Given the description of an element on the screen output the (x, y) to click on. 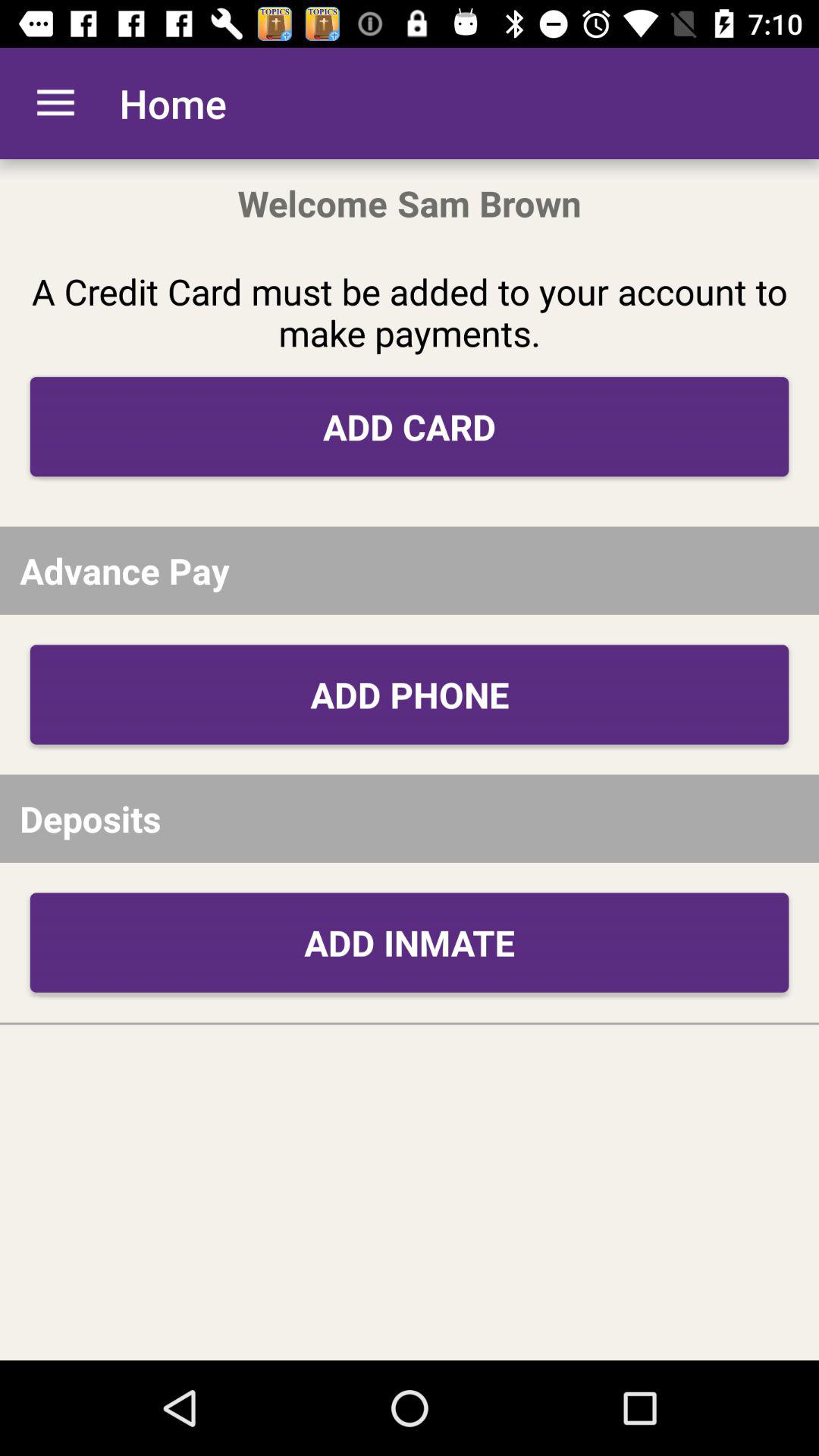
launch item next to the home icon (55, 103)
